Given the description of an element on the screen output the (x, y) to click on. 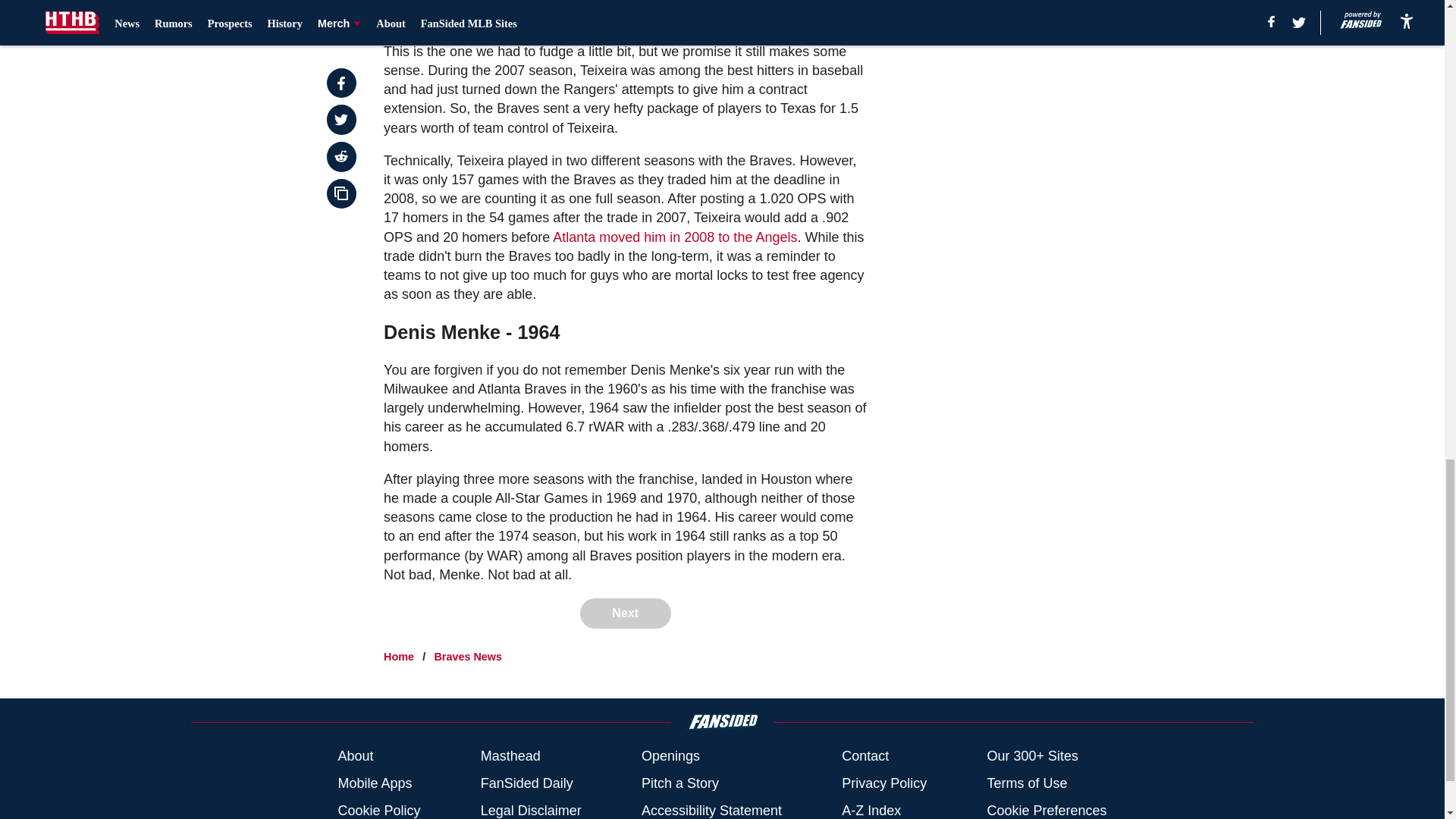
Atlanta moved him in 2008 to the Angels (674, 237)
Home (398, 656)
Next (625, 613)
